Given the description of an element on the screen output the (x, y) to click on. 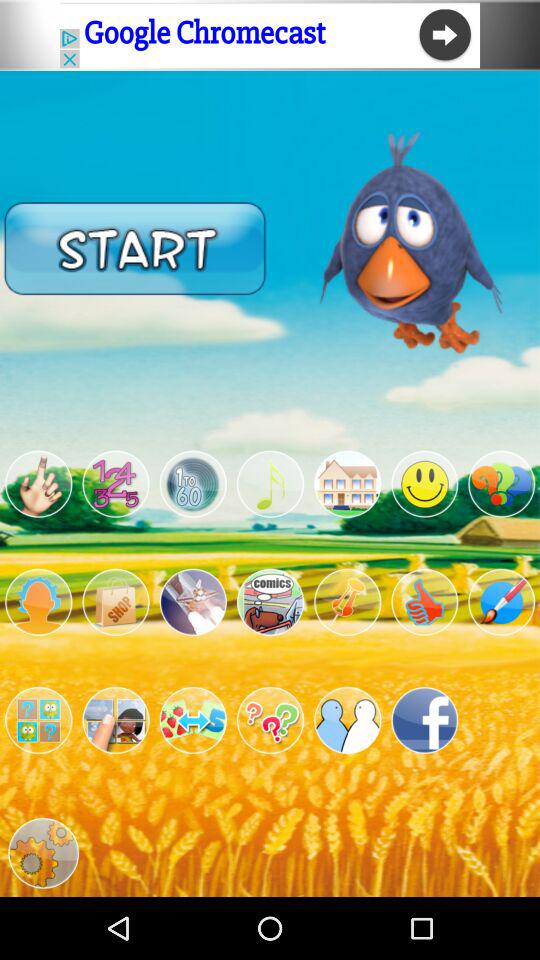
select app (270, 602)
